Given the description of an element on the screen output the (x, y) to click on. 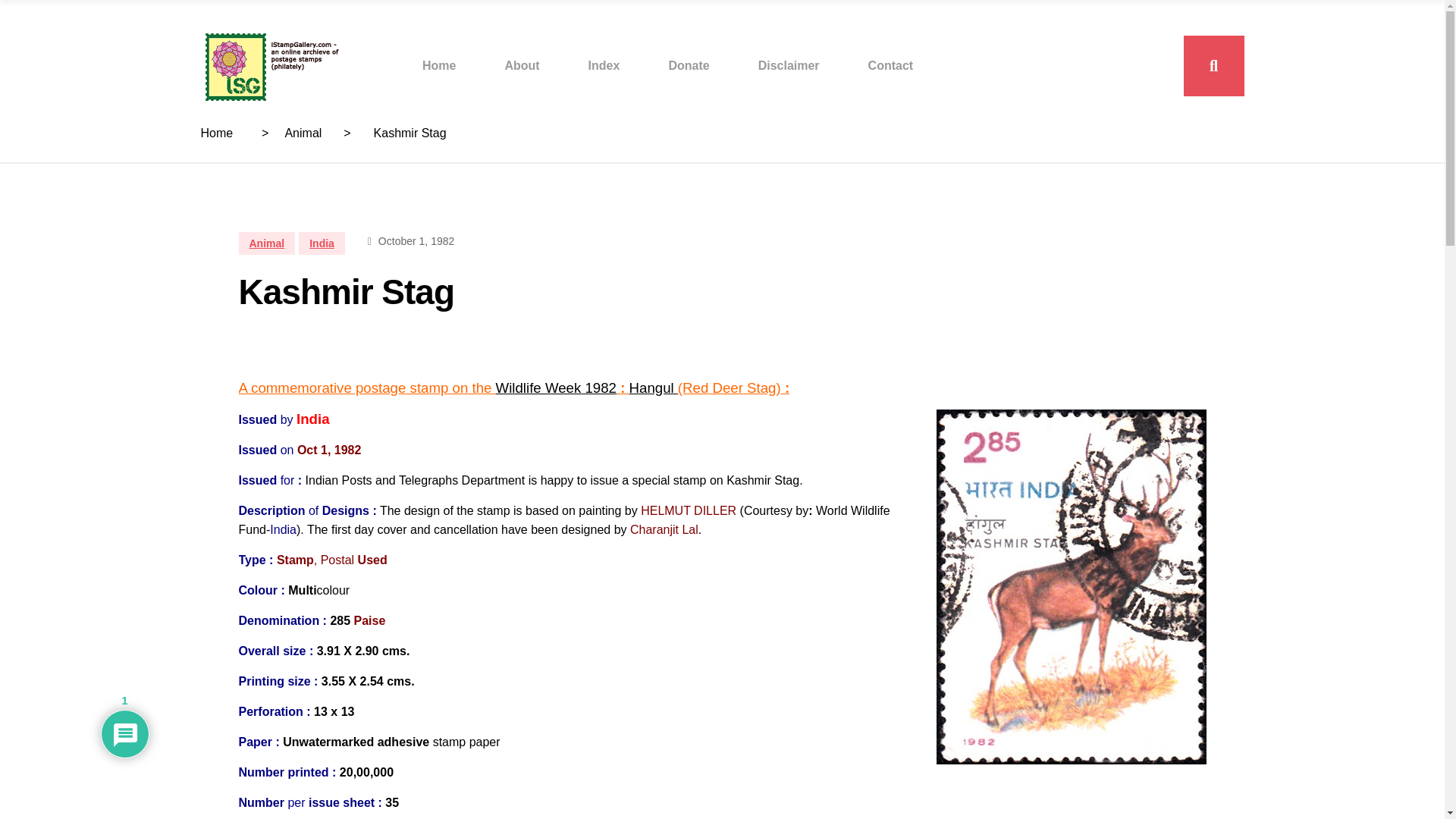
India (321, 242)
Home (438, 65)
About (520, 65)
Home (216, 132)
Index (604, 65)
Disclaimer (788, 65)
Animal (266, 242)
Contact (890, 65)
Animal (302, 132)
Donate (688, 65)
